Given the description of an element on the screen output the (x, y) to click on. 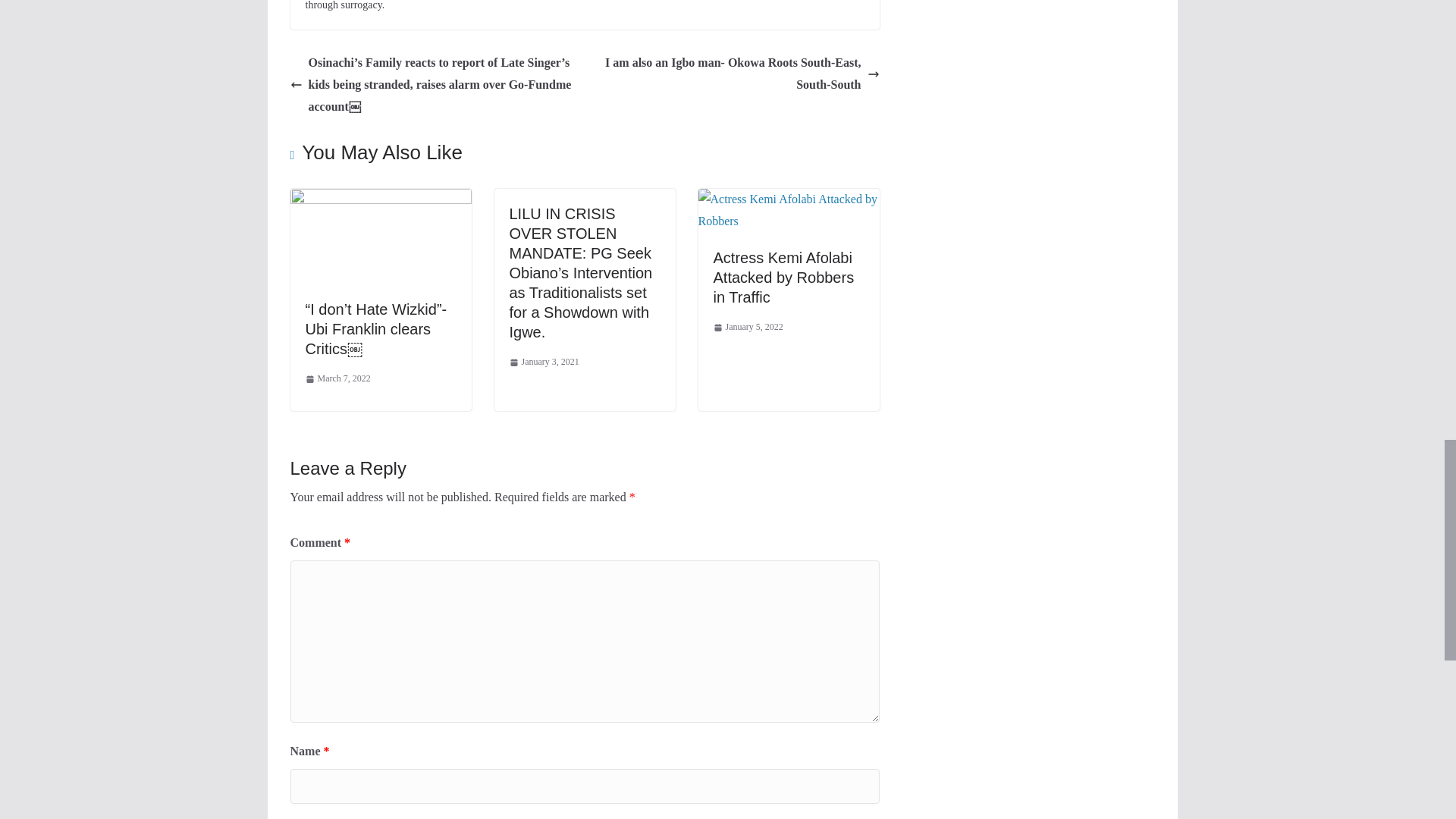
I am also an Igbo man- Okowa Roots South-East, South-South (735, 74)
January 3, 2021 (544, 362)
January 5, 2022 (748, 327)
Actress Kemi Afolabi Attacked by Robbers in Traffic (783, 277)
Actress Kemi Afolabi Attacked by Robbers in Traffic (783, 277)
Actress Kemi Afolabi Attacked by Robbers in Traffic (788, 198)
March 7, 2022 (336, 379)
11:03 am (544, 362)
10:32 pm (336, 379)
3:59 pm (748, 327)
